Given the description of an element on the screen output the (x, y) to click on. 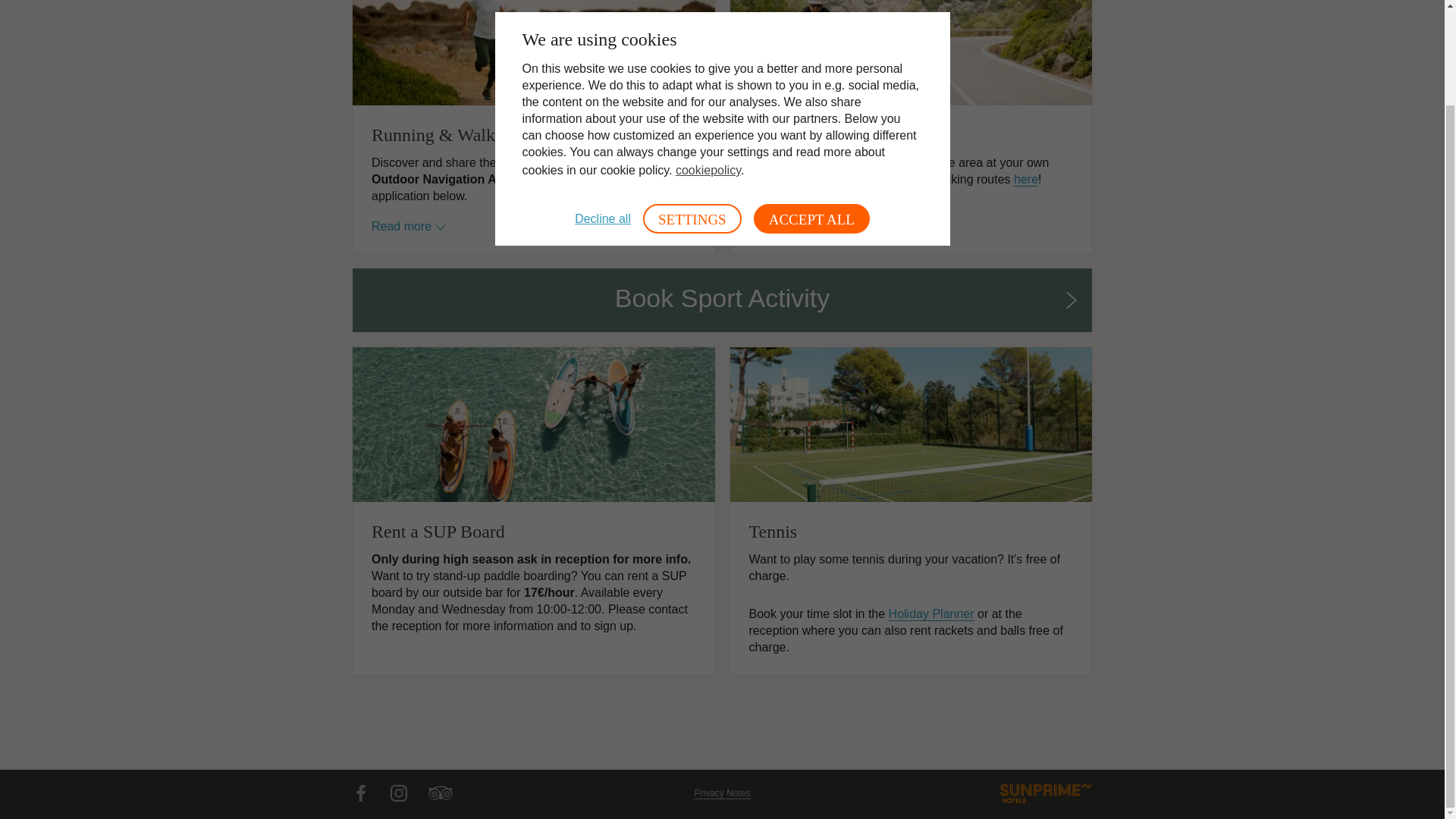
Read more (785, 210)
here (1025, 179)
Read more (408, 227)
Book Sport Activity (722, 300)
ACCEPT ALL (811, 108)
Wikiloc (536, 179)
Privacy Notes (721, 793)
Decline all (602, 109)
cookiepolicy (708, 60)
Holiday Planner (931, 613)
